Given the description of an element on the screen output the (x, y) to click on. 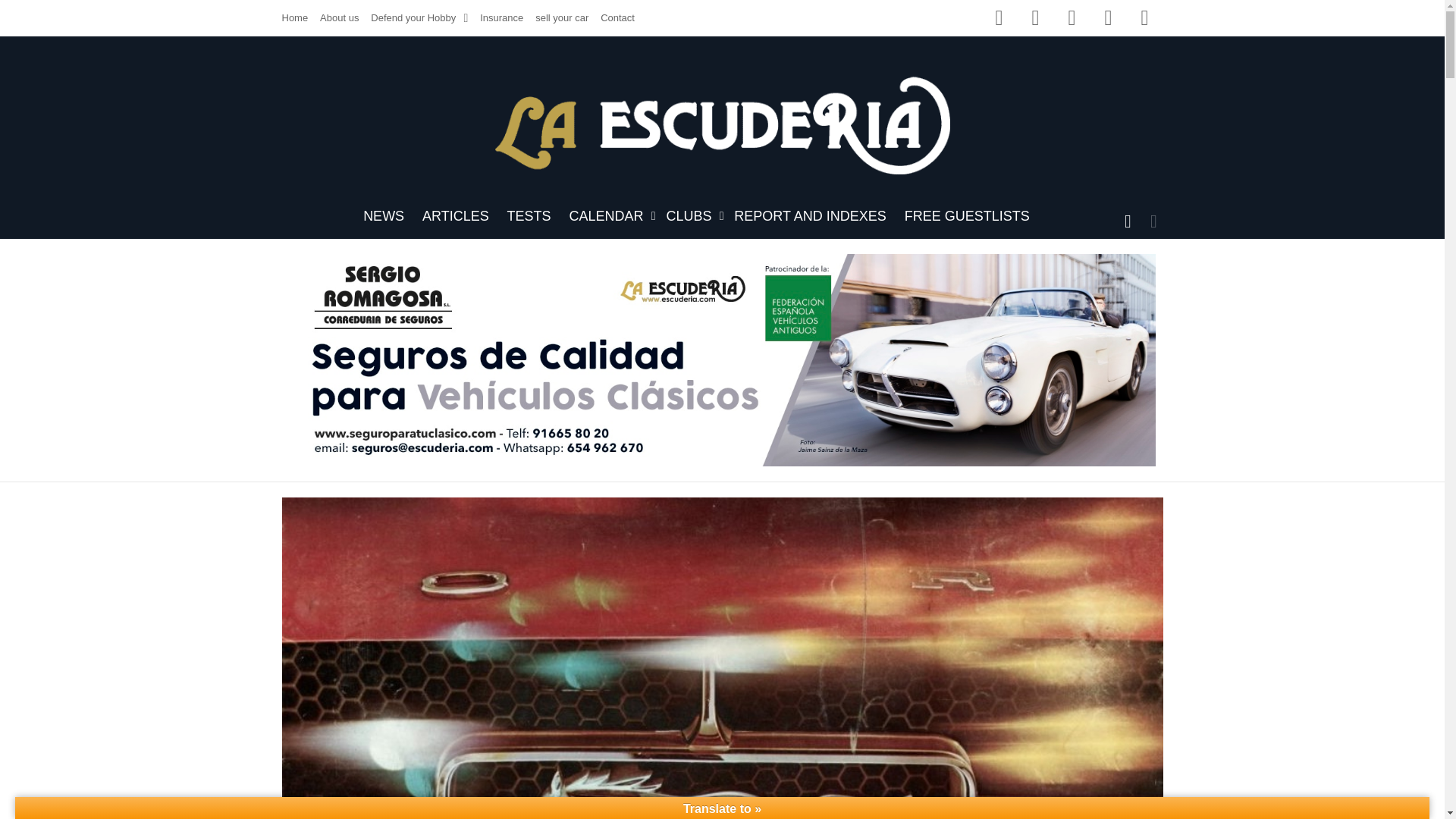
REPORT AND INDEXES (809, 215)
Twitter (1035, 18)
Defend your Hobby (419, 17)
linkedin (1108, 18)
ARTICLES (455, 215)
youtube (1144, 18)
TESTS (529, 215)
Instagram (1072, 18)
About us (339, 17)
CALENDAR (609, 215)
NEWS (383, 215)
Facebook (999, 18)
Contact (616, 17)
CLUBS (690, 215)
sell your car (561, 17)
